Given the description of an element on the screen output the (x, y) to click on. 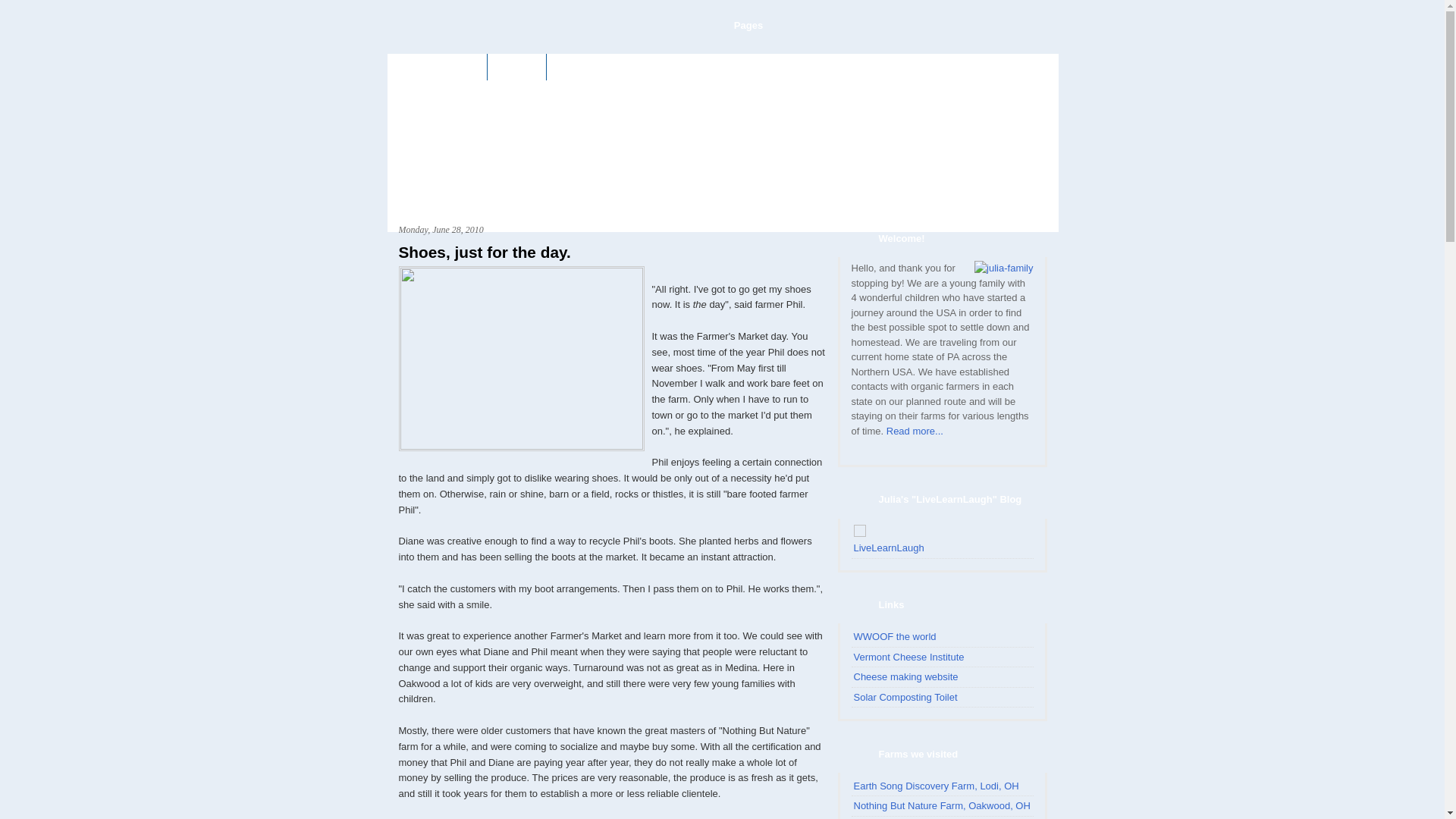
About Element type: text (516, 66)
Home Element type: text (457, 66)
Solar Composting Toilet Element type: text (905, 696)
Read more... Element type: text (914, 430)
Vermont Cheese Institute Element type: text (908, 656)
LiveLearnLaugh Element type: text (888, 547)
Earth Song Discovery Farm, Lodi, OH Element type: text (936, 785)
Shoes, just for the day. Element type: text (612, 252)
Nothing But Nature Farm, Oakwood, OH Element type: text (941, 805)
Cheese making website Element type: text (905, 676)
WWOOF the world Element type: text (894, 636)
